Given the description of an element on the screen output the (x, y) to click on. 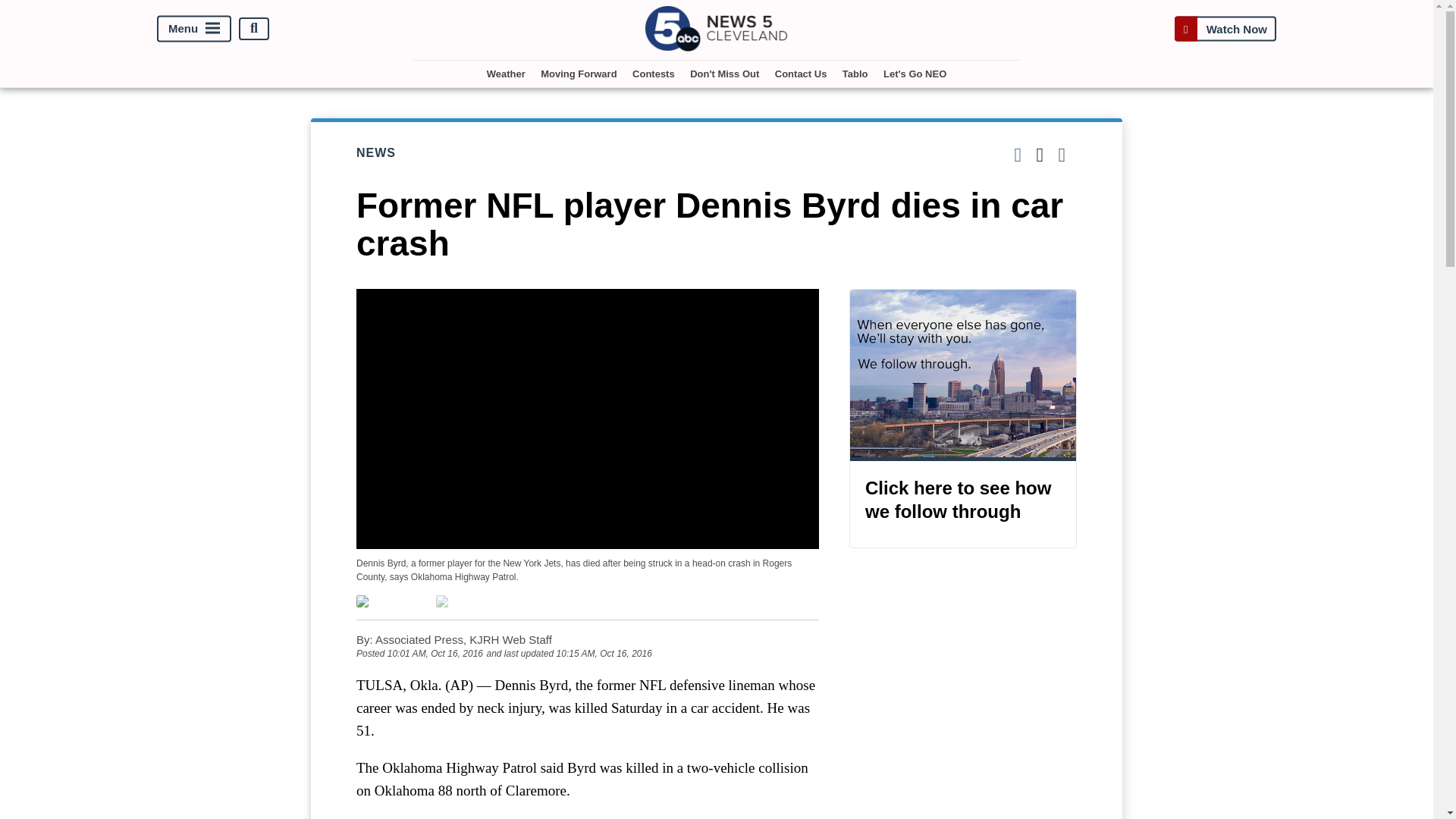
Watch Now (1224, 28)
Menu (194, 28)
